Given the description of an element on the screen output the (x, y) to click on. 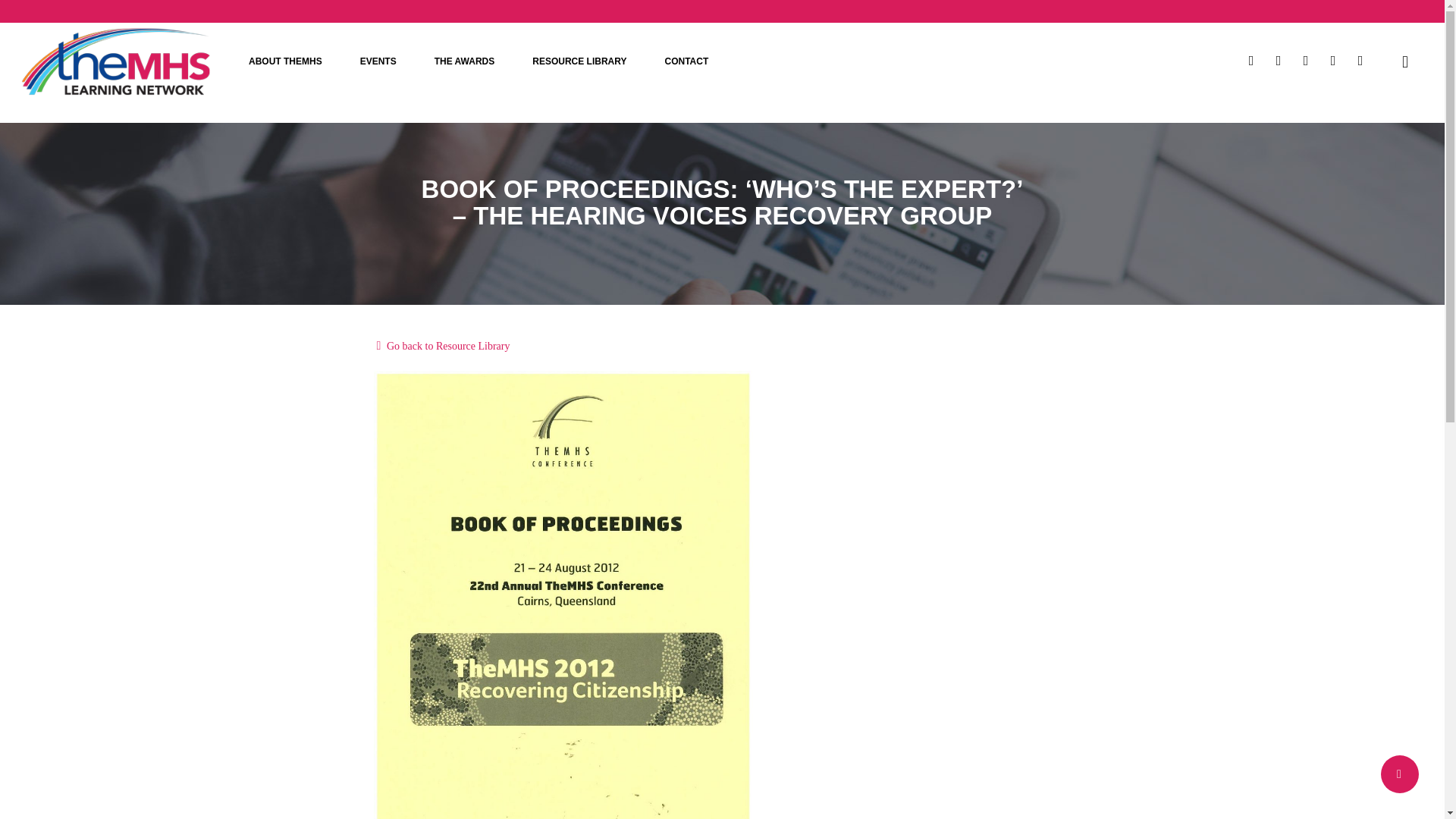
EVENTS (378, 61)
ABOUT THEMHS (285, 61)
RESOURCE LIBRARY (579, 61)
CONTACT (686, 61)
THE AWARDS (464, 61)
